Given the description of an element on the screen output the (x, y) to click on. 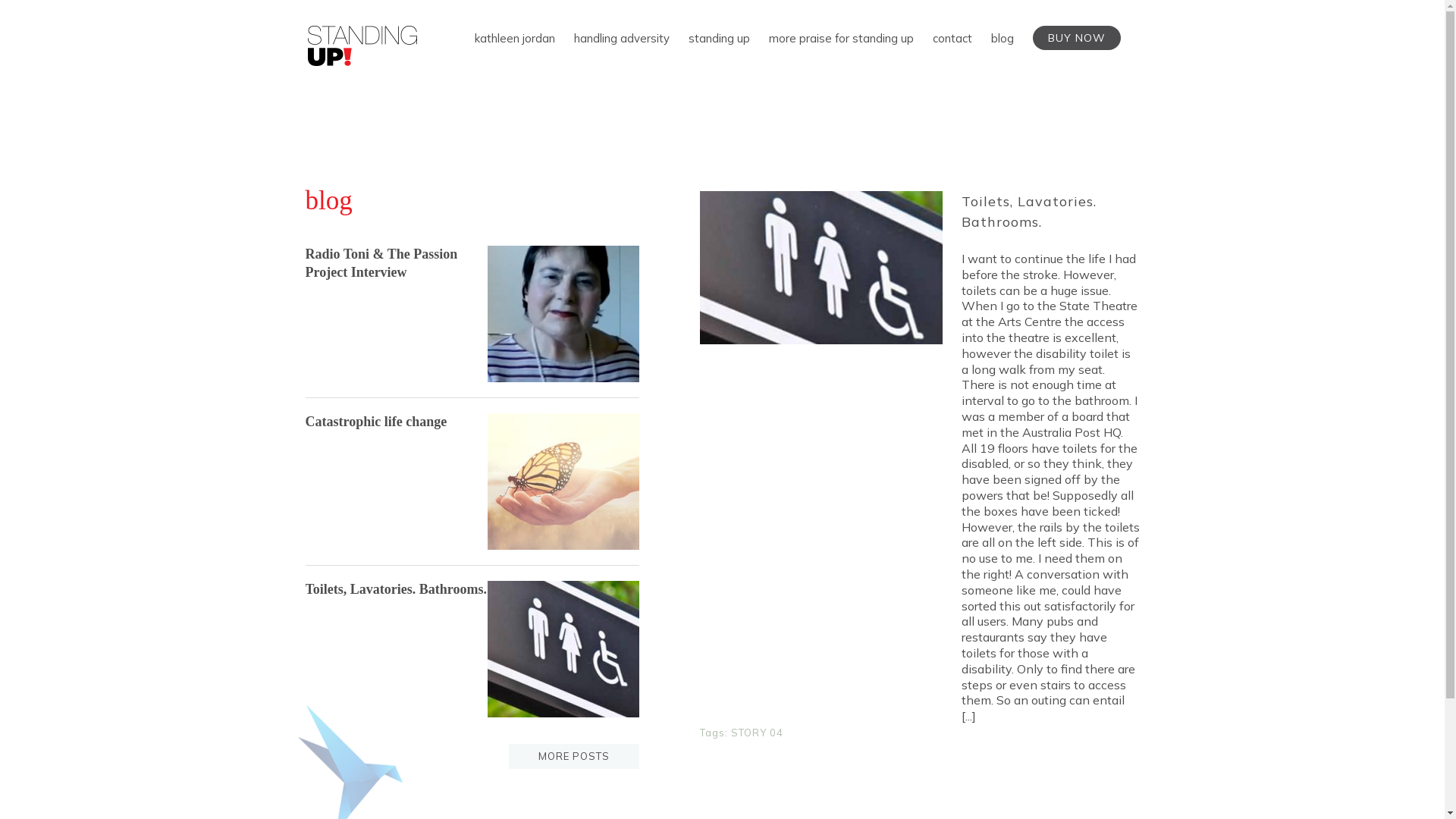
Radio Toni & The Passion Project Interview Element type: text (380, 262)
standing up Element type: text (718, 37)
[...] Element type: text (968, 715)
kathleen jordan Element type: text (514, 37)
handling adversity Element type: text (620, 37)
blog Element type: text (1001, 37)
MORE POSTS Element type: text (573, 755)
BUY NOW Element type: text (1076, 37)
STORY 04 Element type: text (757, 732)
Toilets, Lavatories. Bathrooms. Element type: text (395, 588)
contact Element type: text (952, 37)
Toilets, Lavatories. Bathrooms. Element type: text (1028, 211)
Catastrophic life change Element type: text (375, 421)
more praise for standing up Element type: text (840, 37)
